Given the description of an element on the screen output the (x, y) to click on. 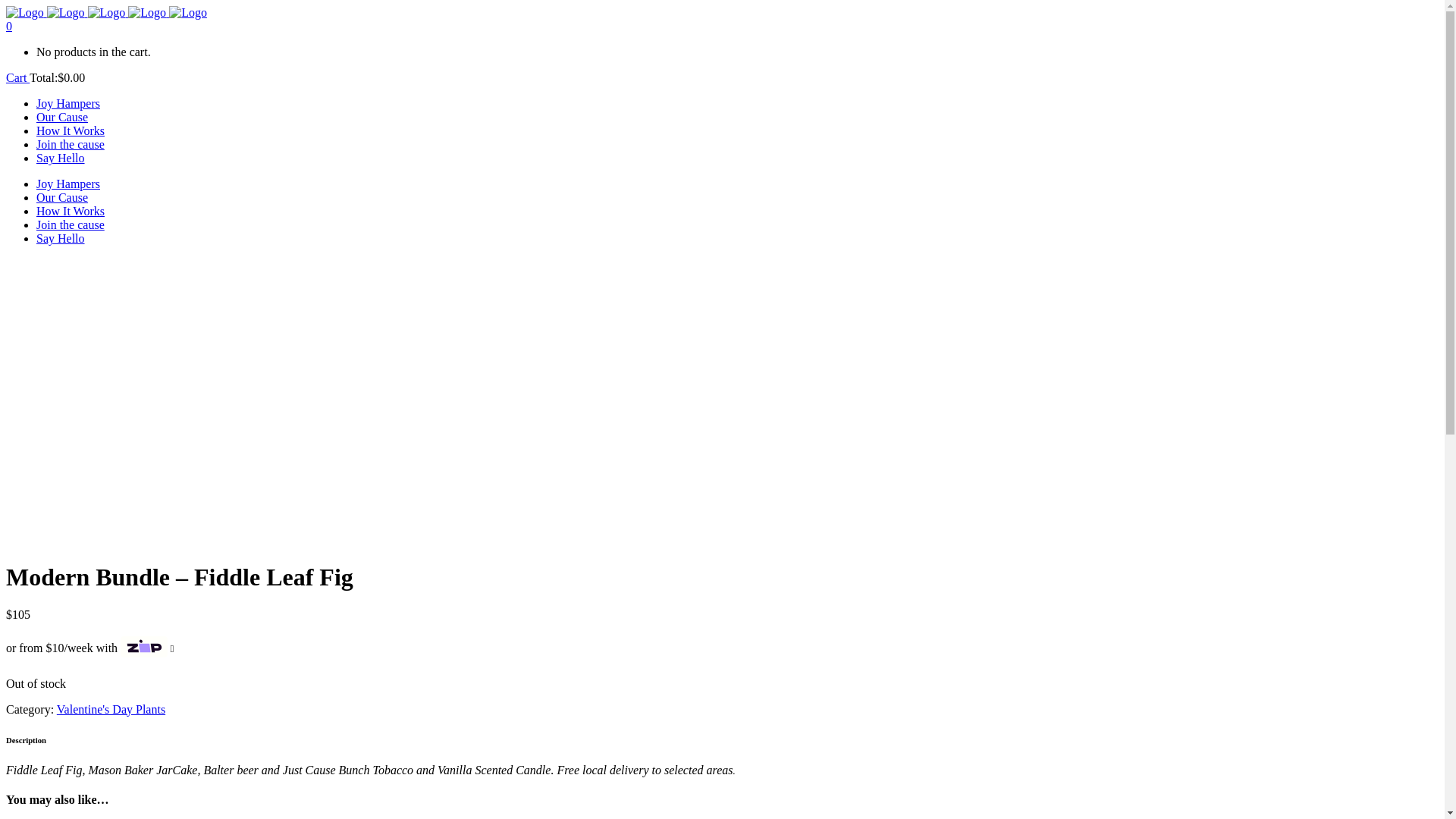
Say Hello Element type: text (60, 238)
Say Hello Element type: text (60, 157)
Our Cause Element type: text (61, 197)
Join the cause Element type: text (70, 144)
Cart Element type: text (17, 77)
How It Works Element type: text (70, 210)
Joy Hampers Element type: text (68, 103)
0 Element type: text (9, 25)
Our Cause Element type: text (61, 116)
Join the cause Element type: text (70, 224)
Joy Hampers Element type: text (68, 183)
How It Works Element type: text (70, 130)
Valentine's Day Plants Element type: text (110, 708)
